Given the description of an element on the screen output the (x, y) to click on. 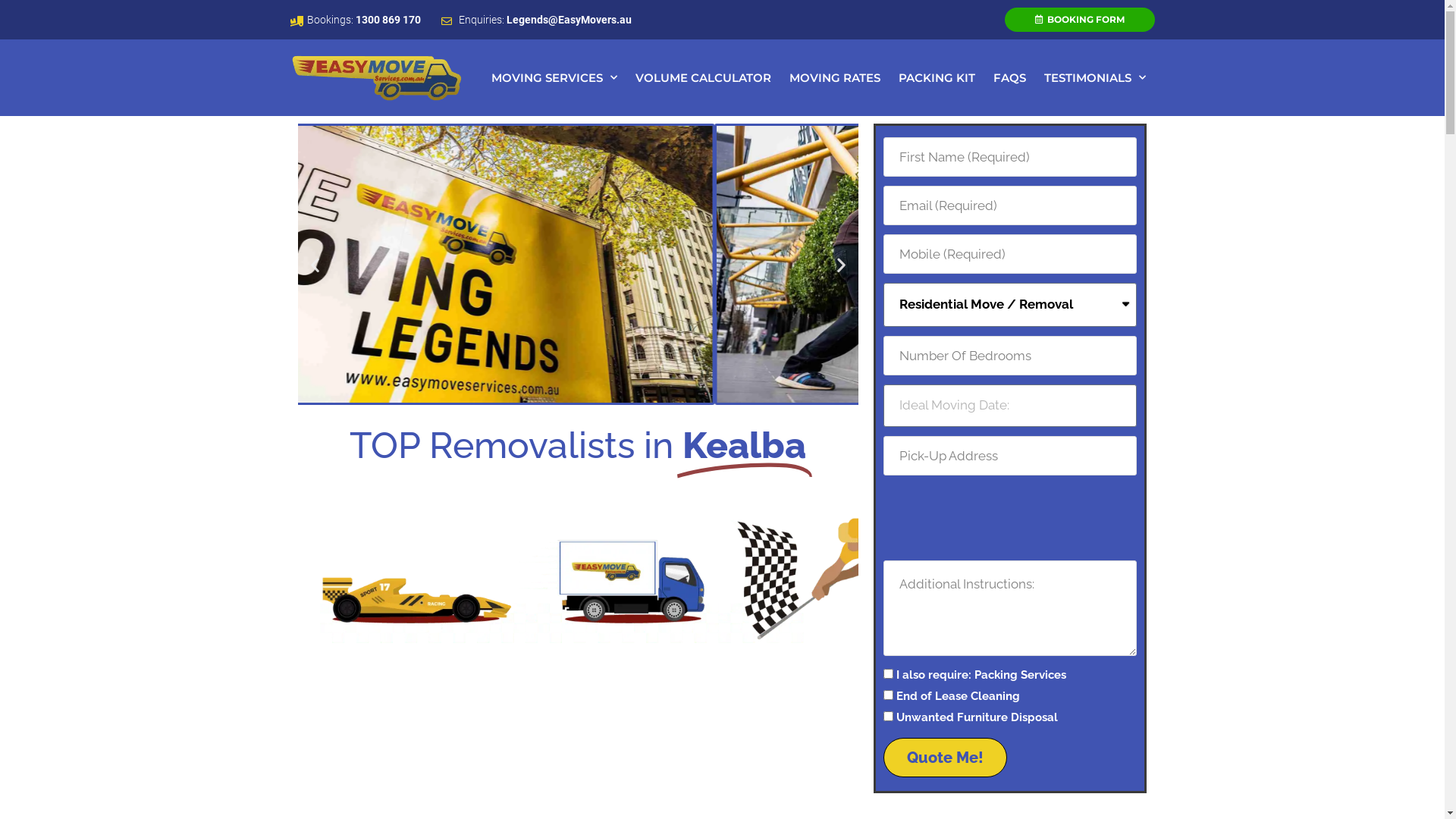
MOVING SERVICES Element type: text (554, 77)
TESTIMONIALS Element type: text (1094, 77)
BOOKING FORM Element type: text (1079, 19)
FAQS Element type: text (1009, 77)
Enquiries: Legends@EasyMovers.au Element type: text (536, 19)
PACKING KIT Element type: text (935, 77)
MOVING RATES Element type: text (833, 77)
Removalists in Kealba 1 Element type: hover (577, 263)
Removalists in Kealba 5 Element type: hover (577, 595)
VOLUME CALCULATOR Element type: text (703, 77)
Quote Me! Element type: text (945, 757)
Bookings: 1300 869 170 Element type: text (354, 19)
